Given the description of an element on the screen output the (x, y) to click on. 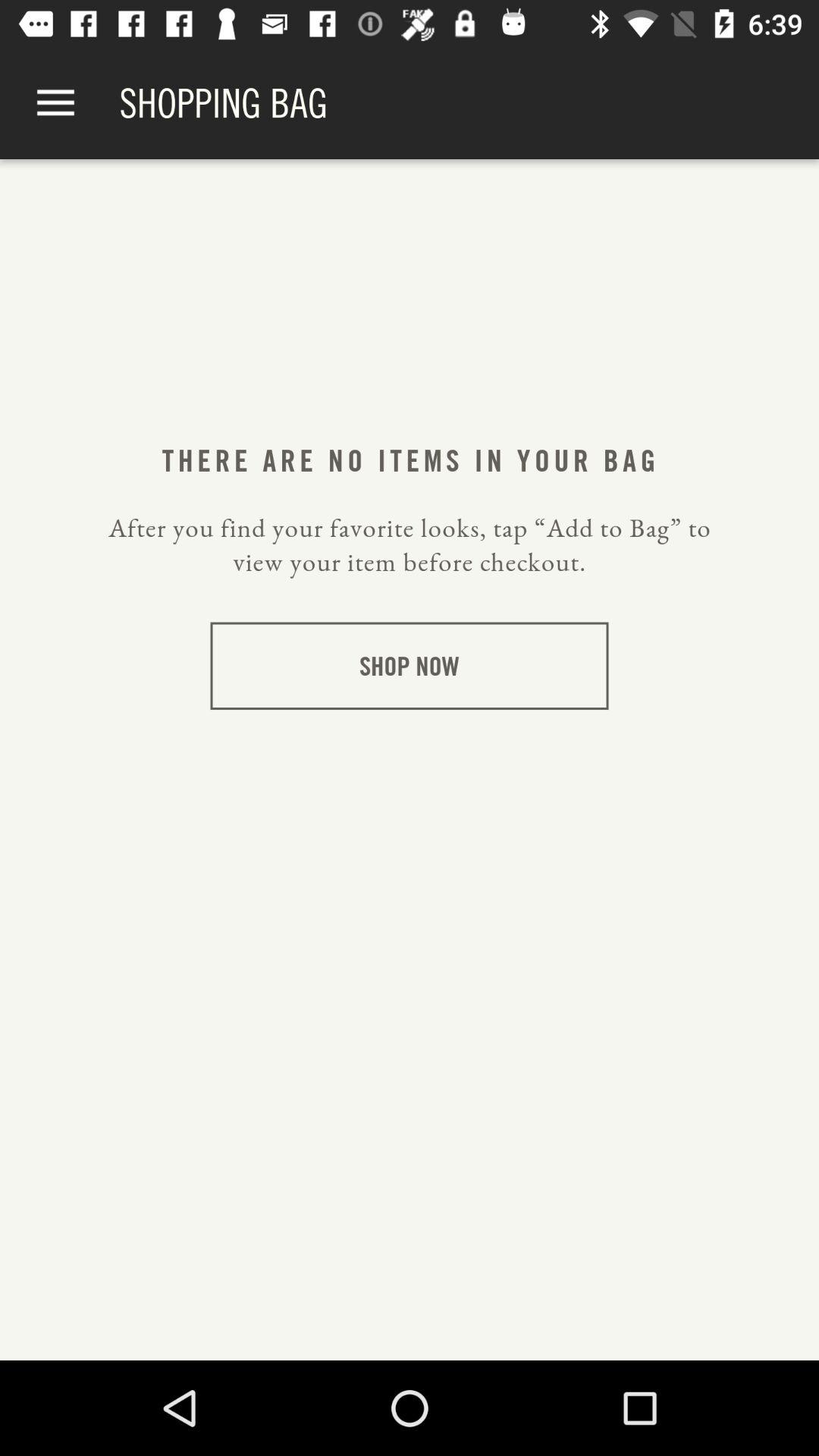
tap app to the left of the shopping bag (55, 103)
